Given the description of an element on the screen output the (x, y) to click on. 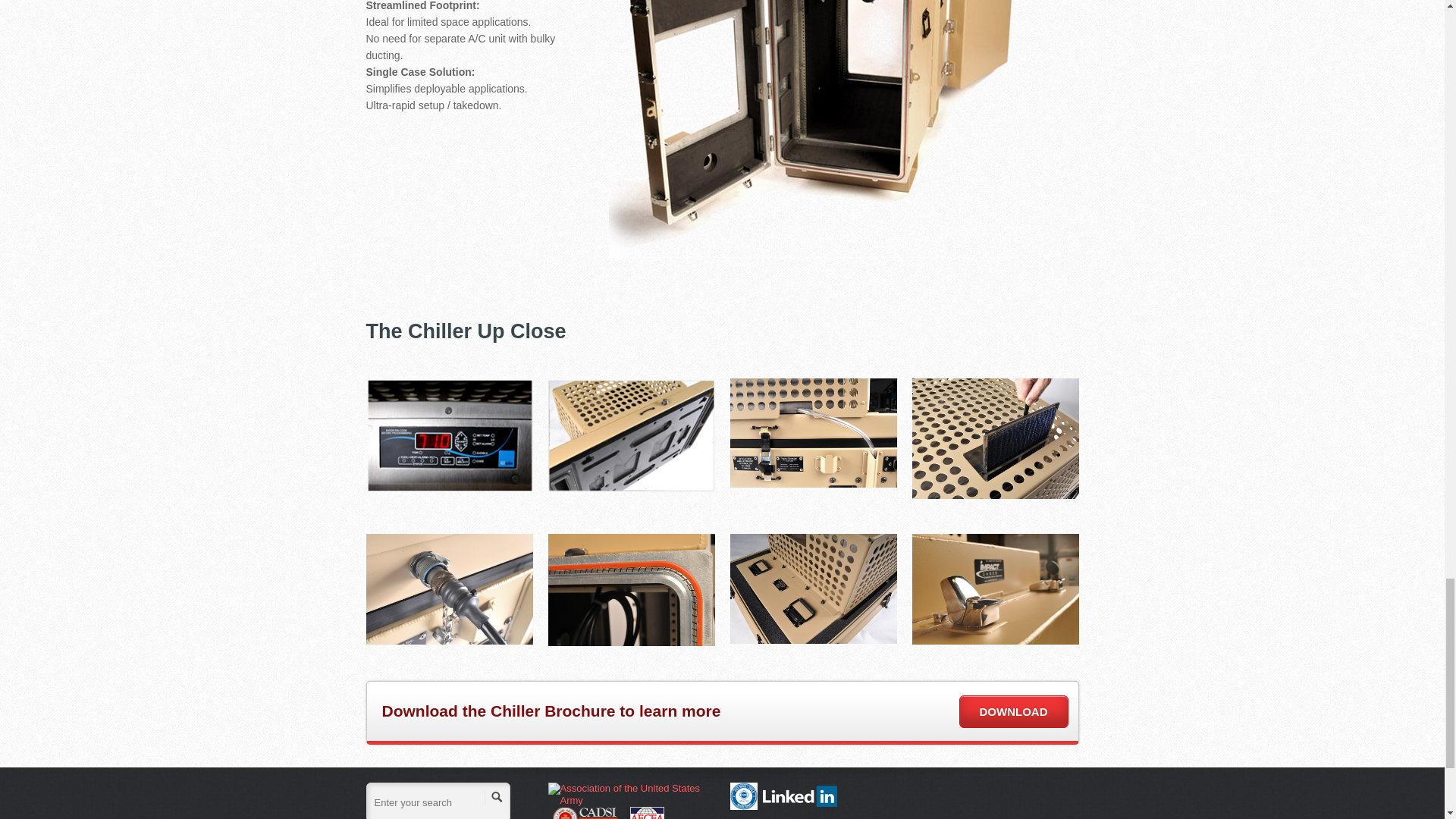
Search (496, 797)
Search (496, 797)
DOWNLOAD (1012, 711)
